Given the description of an element on the screen output the (x, y) to click on. 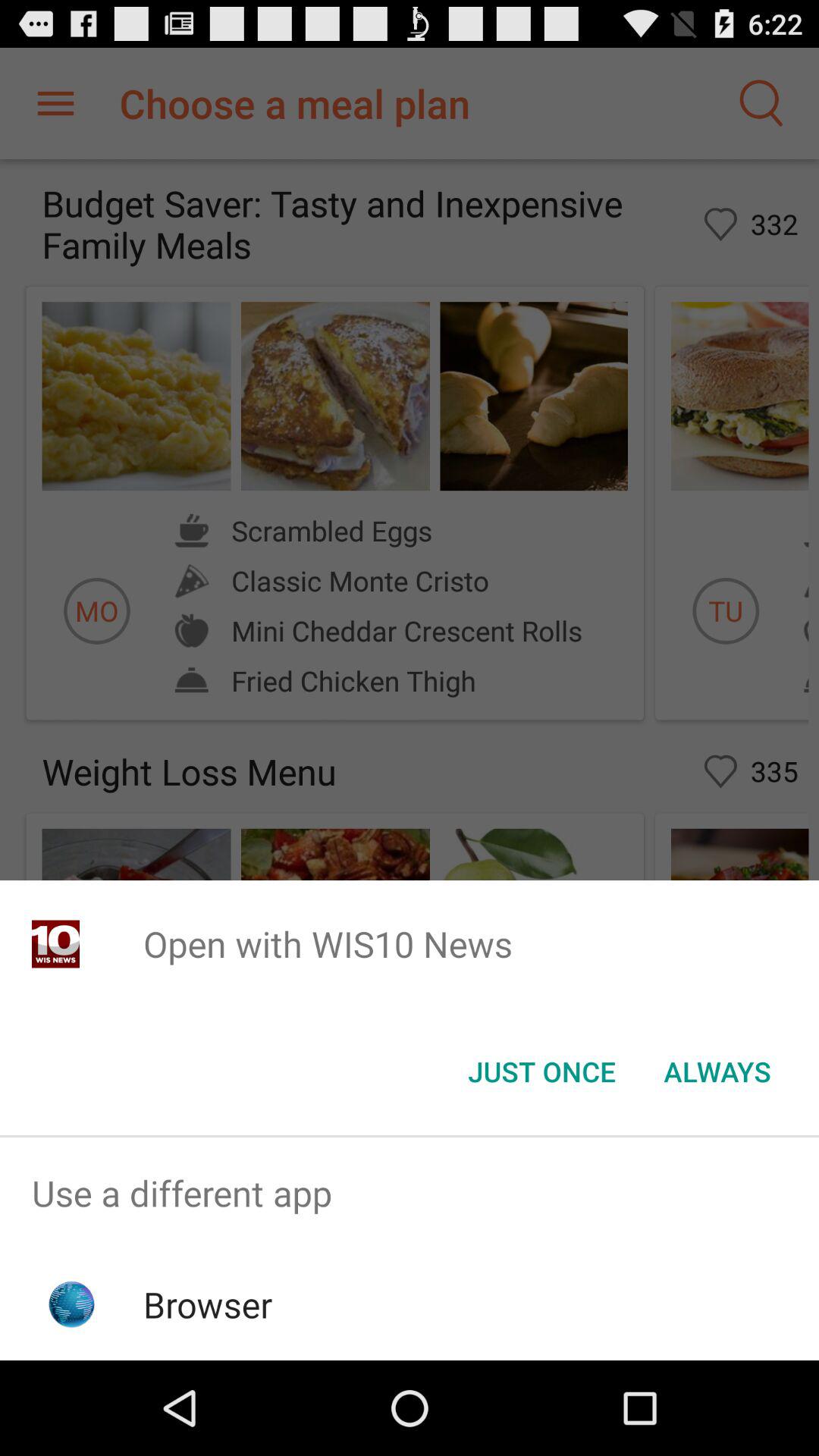
turn on browser item (207, 1304)
